Given the description of an element on the screen output the (x, y) to click on. 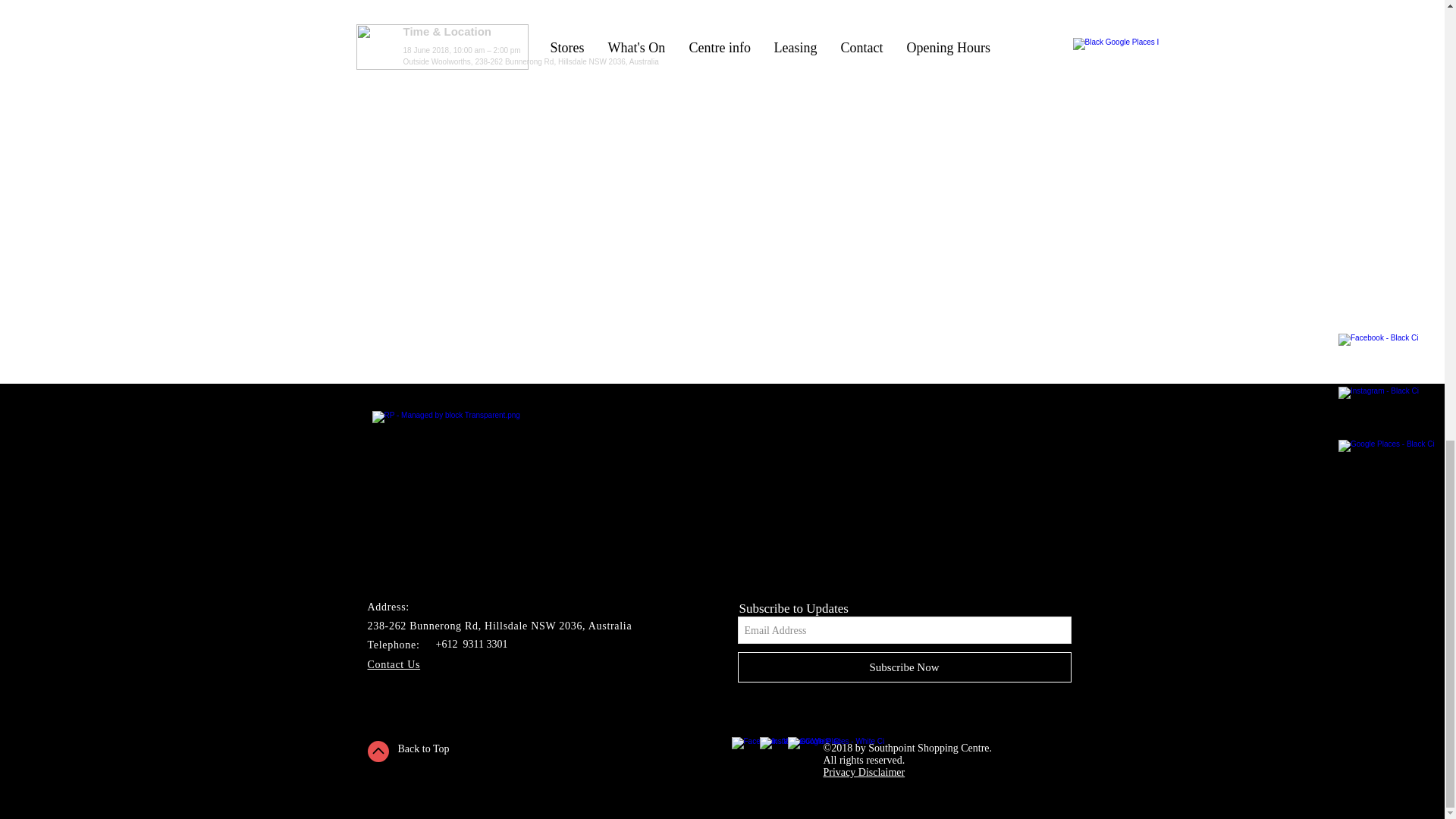
Contact Us (393, 664)
Privacy Disclaimer (864, 772)
Subscribe Now (903, 666)
Back to Top (422, 748)
